Given the description of an element on the screen output the (x, y) to click on. 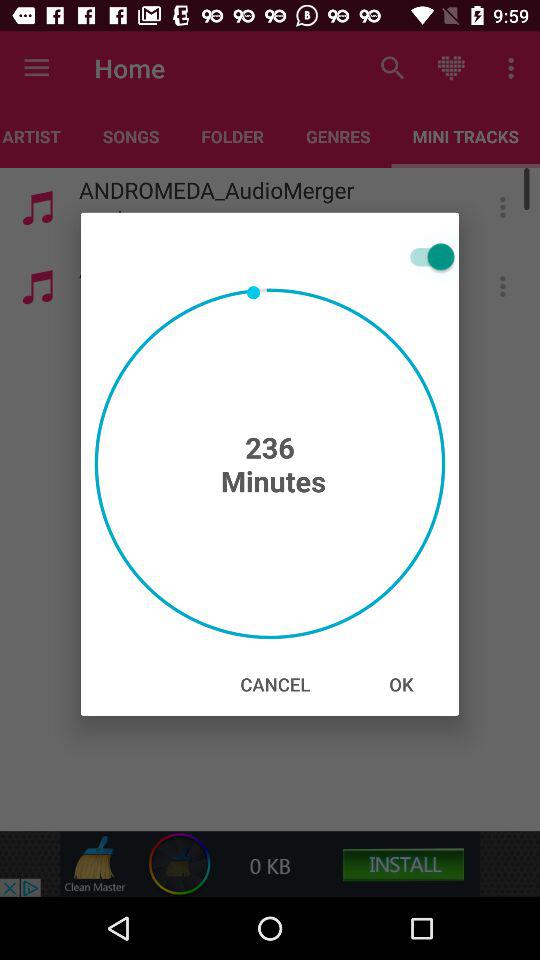
flip until the cancel (275, 683)
